Given the description of an element on the screen output the (x, y) to click on. 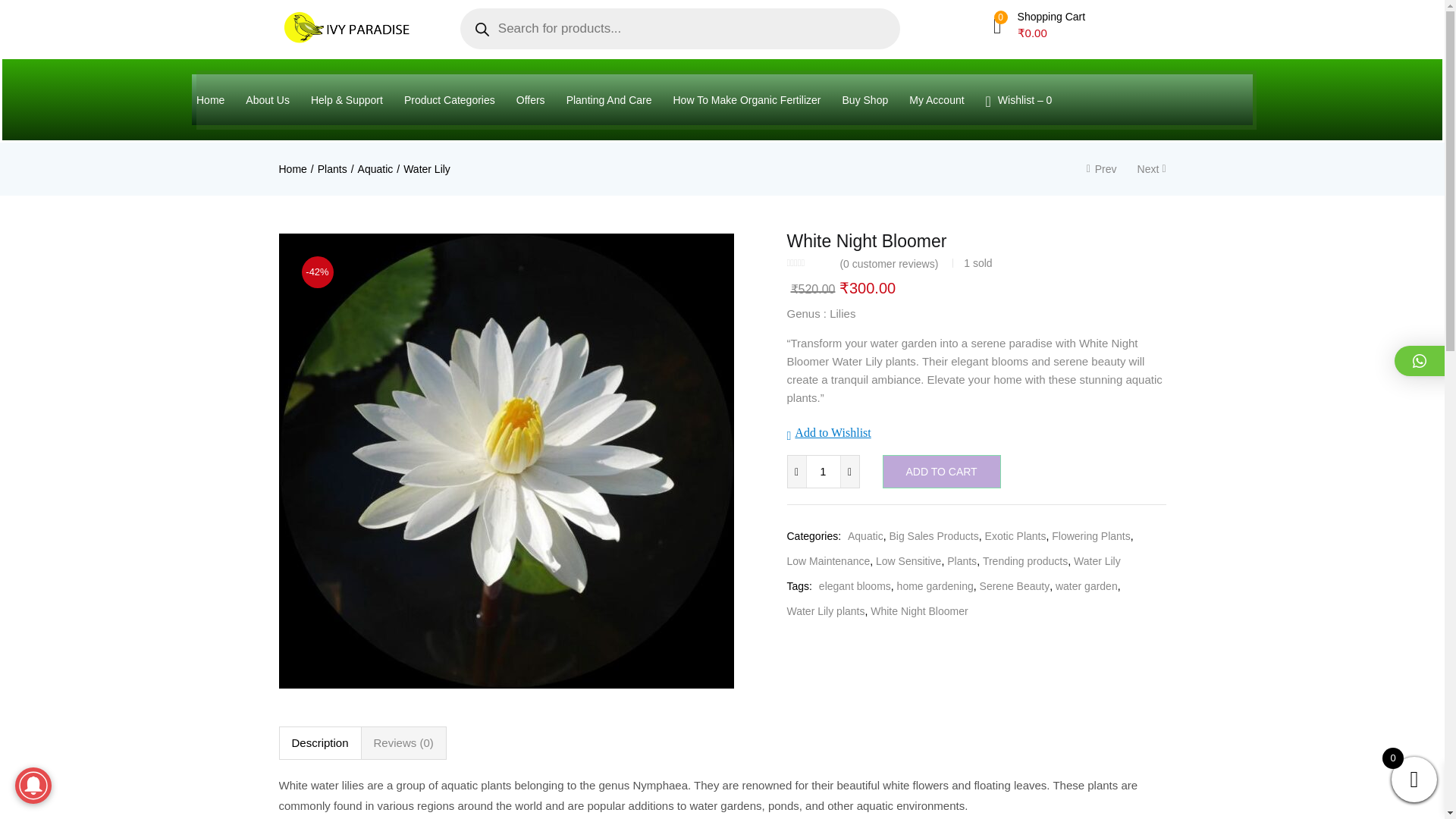
View your shopping cart (1038, 24)
1 (823, 471)
